Given the description of an element on the screen output the (x, y) to click on. 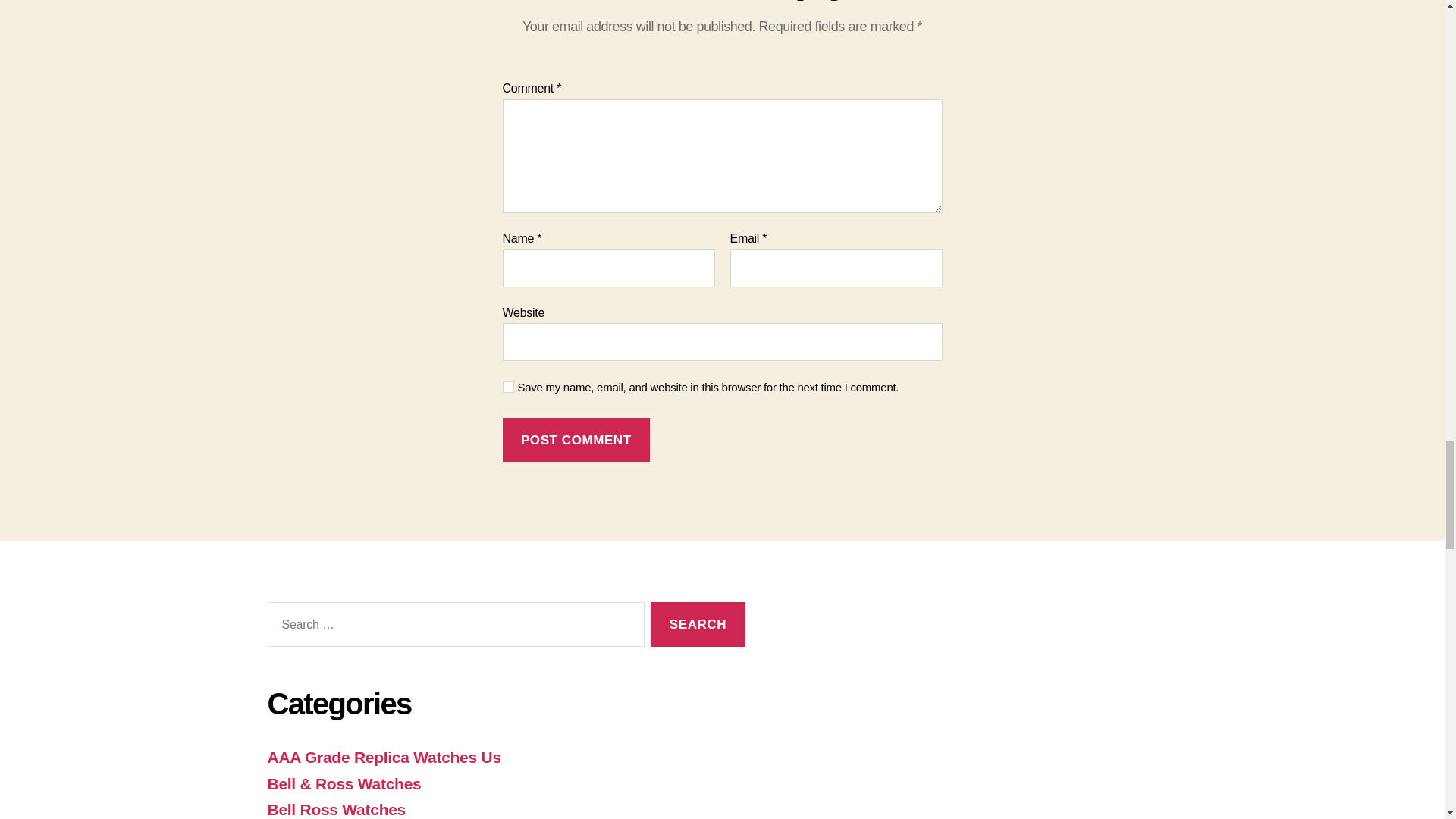
Post Comment (575, 439)
yes (507, 387)
AAA Grade Replica Watches Us (383, 756)
Post Comment (575, 439)
Search (697, 624)
Search (697, 624)
Search (697, 624)
Bell Ross Watches (336, 809)
